Given the description of an element on the screen output the (x, y) to click on. 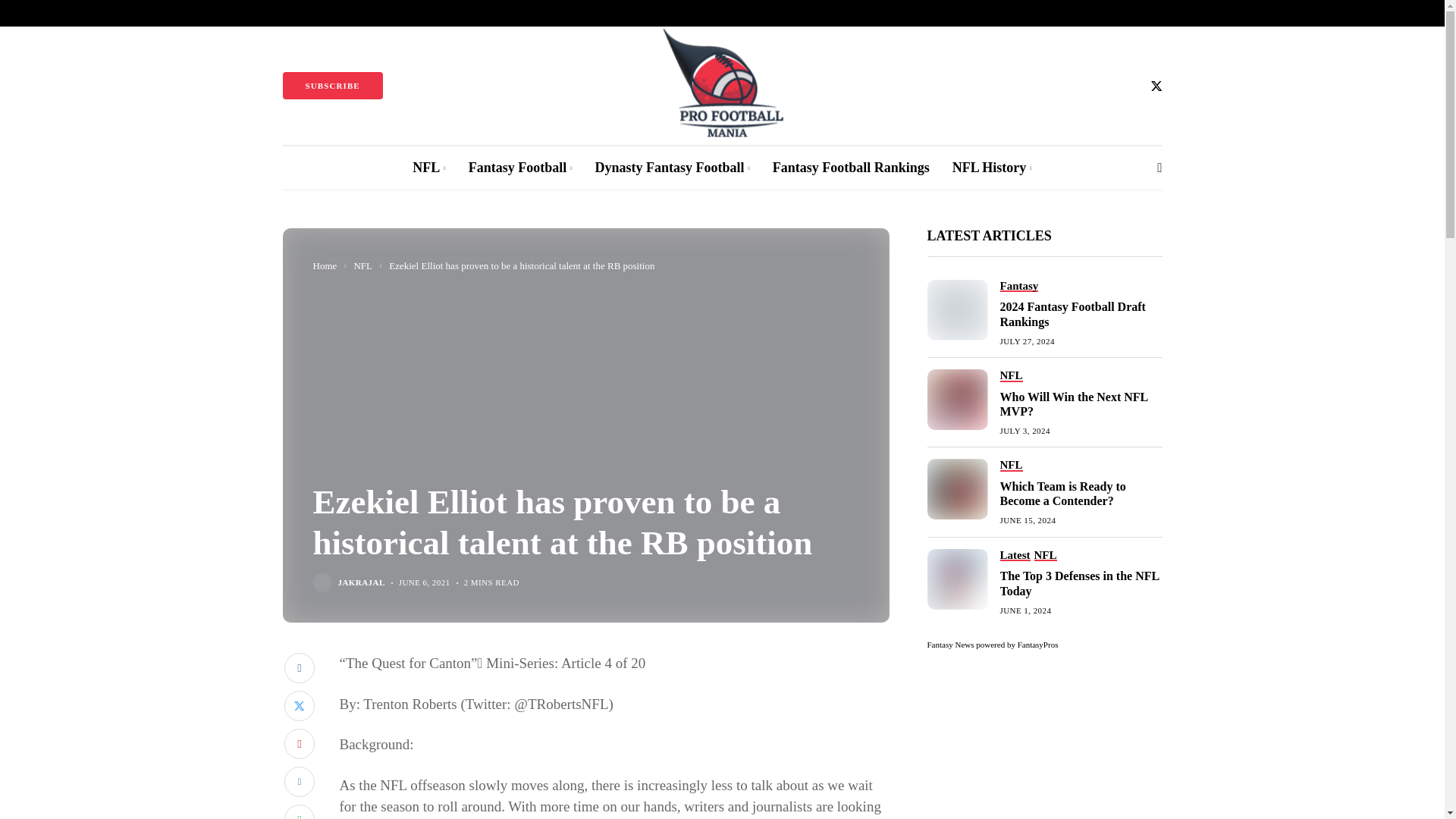
SUBSCRIBE (331, 85)
Posts by jakrajal (361, 583)
NFL History (992, 167)
Fantasy Football Rankings (851, 167)
Fantasy Football (520, 167)
Dynasty Fantasy Football (671, 167)
